Given the description of an element on the screen output the (x, y) to click on. 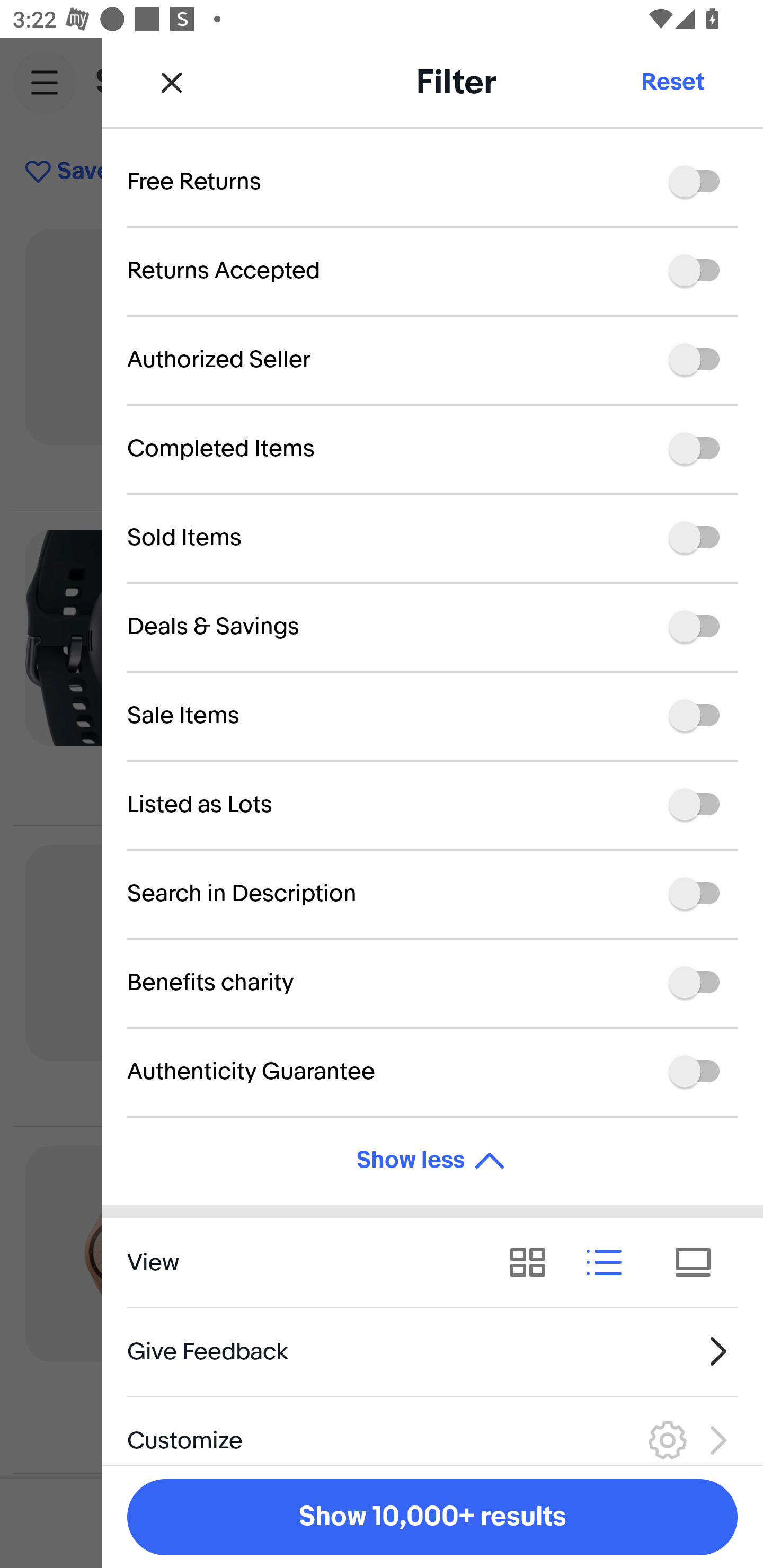
Close Filter (171, 81)
Reset (672, 81)
Filter (667, 171)
Free Returns (432, 192)
Returns Accepted (432, 270)
Authorized Seller (432, 359)
Completed Items (432, 448)
Sold Items (432, 537)
Deals & Savings (432, 626)
Sale Items (432, 715)
Listed as Lots (432, 804)
Search in Description (432, 893)
Benefits charity (432, 982)
Authenticity Guarantee (432, 1071)
Show less (432, 1160)
View results as grid (533, 1261)
View results as list (610, 1261)
View results as tiles (699, 1261)
Customize (432, 1429)
Show 10,000+ results (432, 1516)
